Given the description of an element on the screen output the (x, y) to click on. 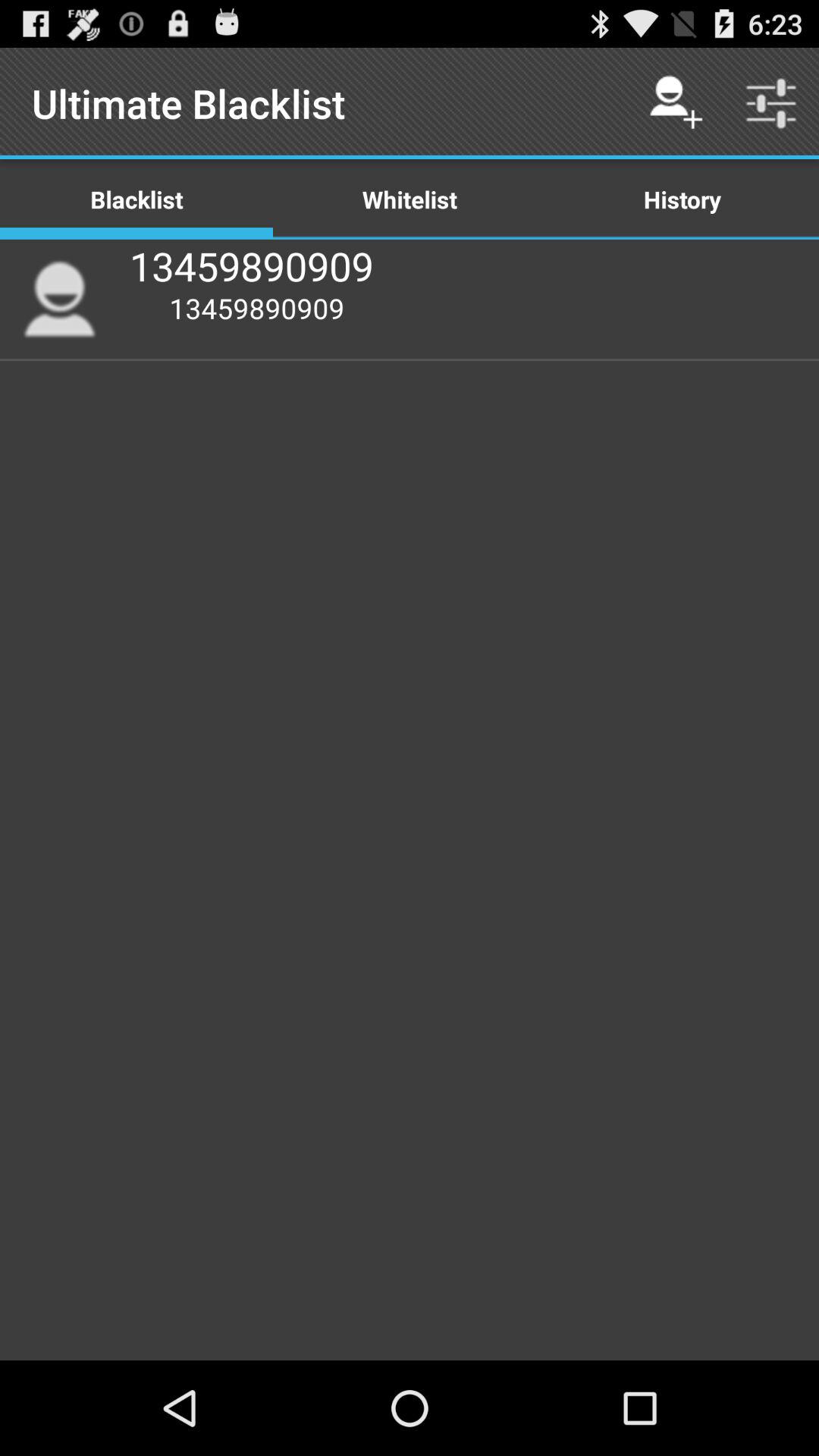
turn off the icon to the right of the whitelist item (675, 103)
